Given the description of an element on the screen output the (x, y) to click on. 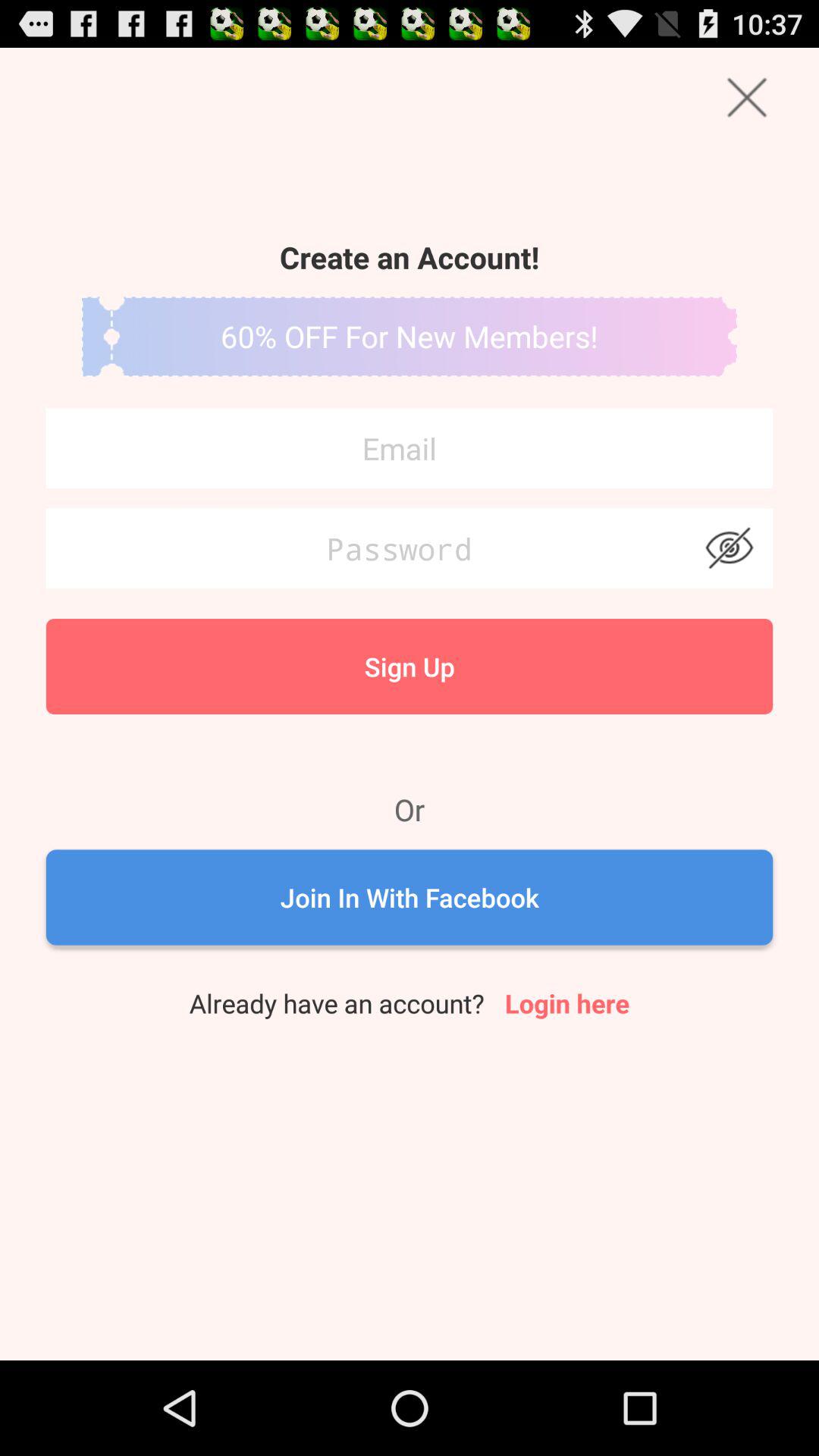
show the password (729, 548)
